Given the description of an element on the screen output the (x, y) to click on. 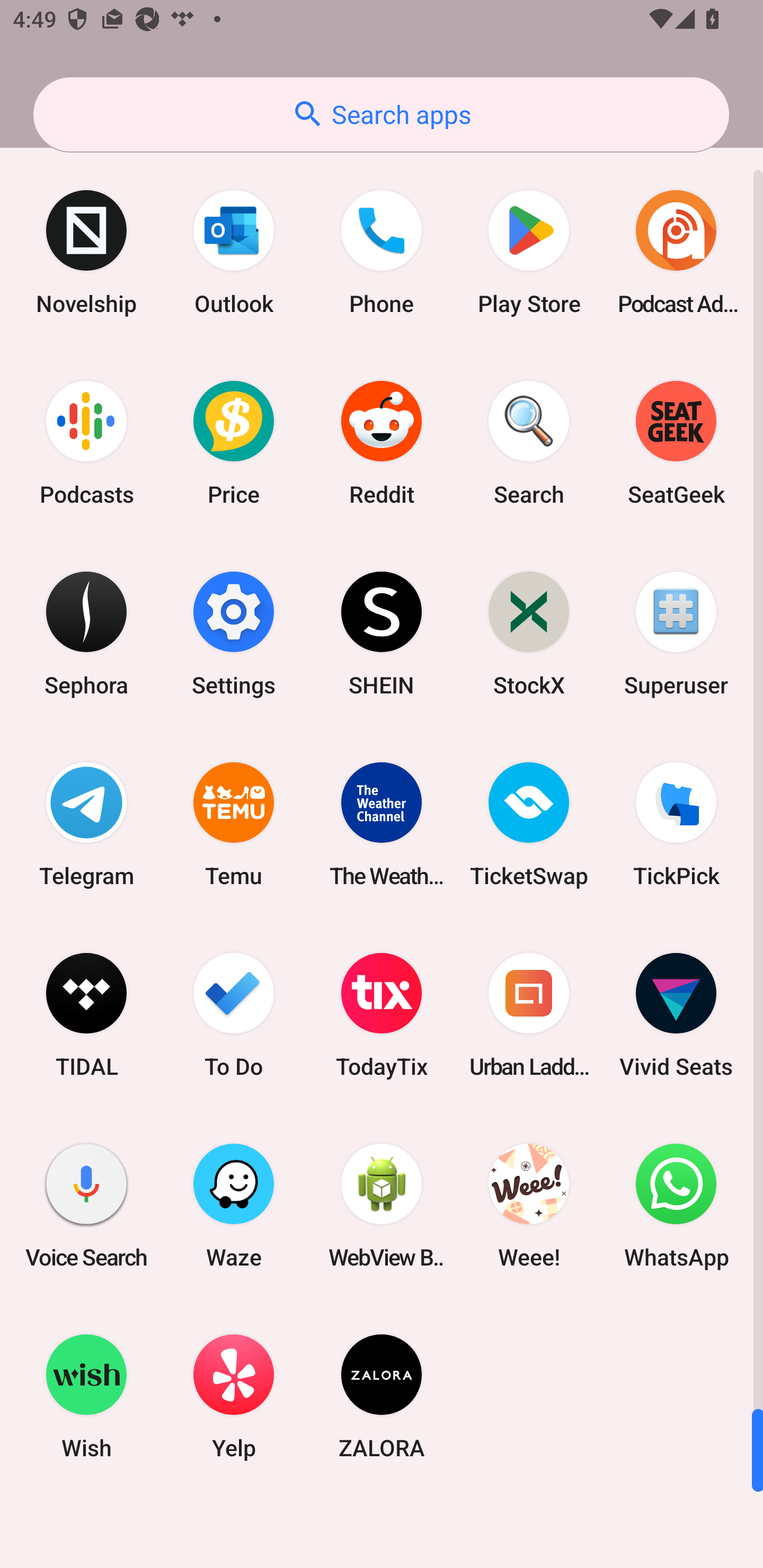
Yelp (233, 1396)
